Given the description of an element on the screen output the (x, y) to click on. 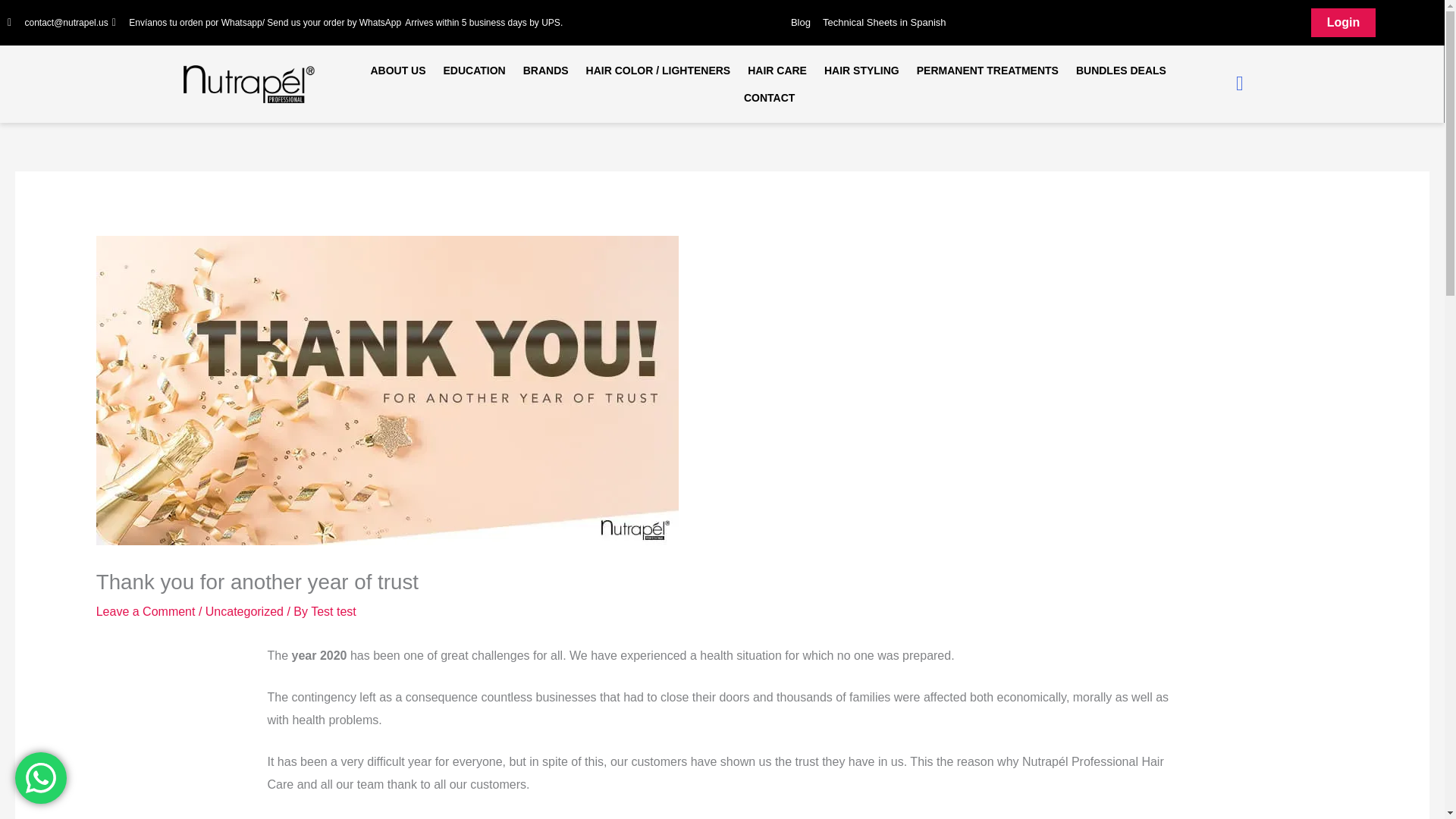
ABOUT US (397, 70)
View all posts by Test test (333, 611)
Technical Sheets in Spanish (884, 22)
EDUCATION (474, 70)
Login (1343, 22)
WhatsApp us (40, 777)
BRANDS (545, 70)
Blog (800, 22)
